Given the description of an element on the screen output the (x, y) to click on. 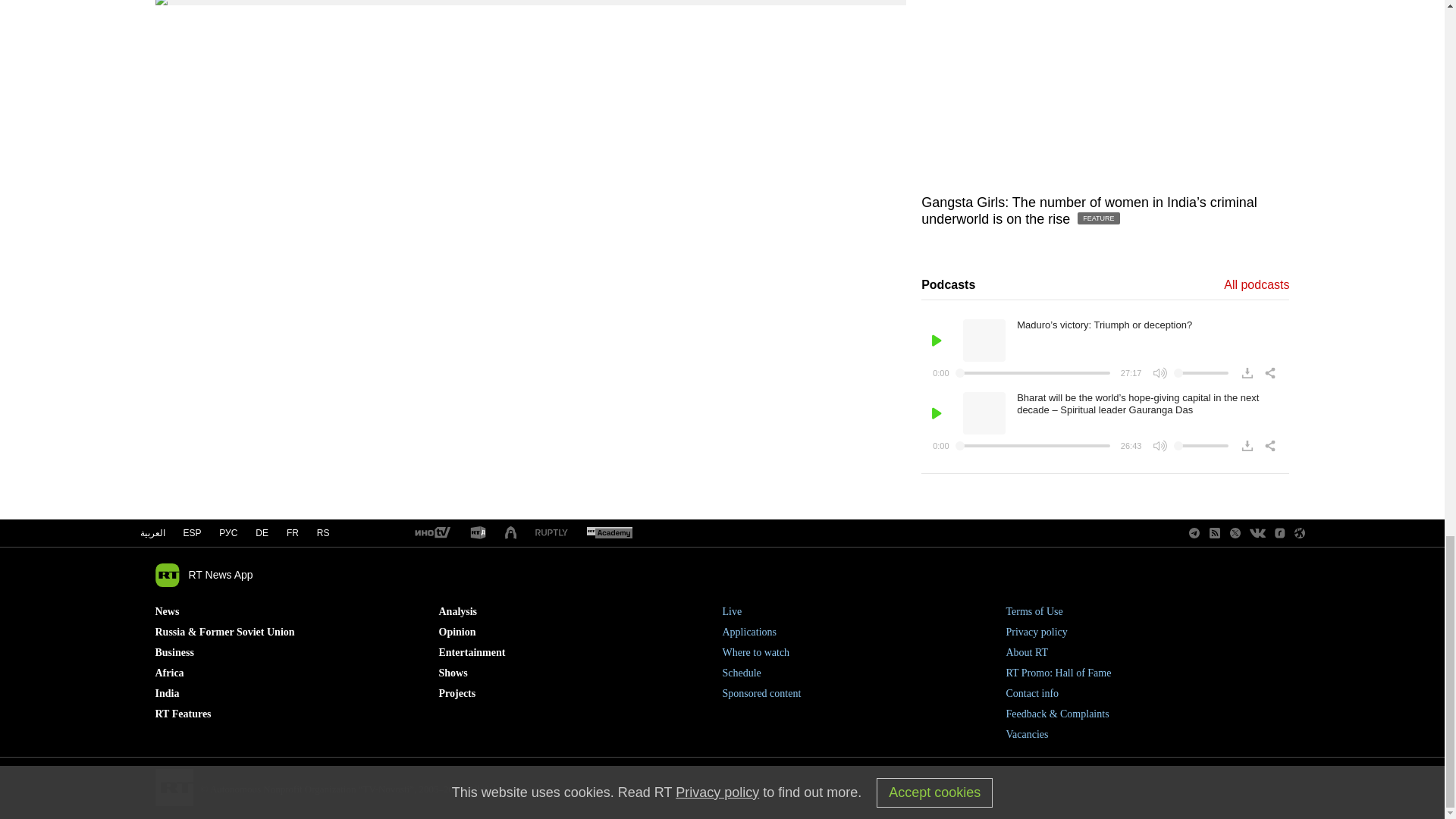
RT  (608, 533)
RT  (551, 533)
RT  (478, 533)
RT  (431, 533)
